Given the description of an element on the screen output the (x, y) to click on. 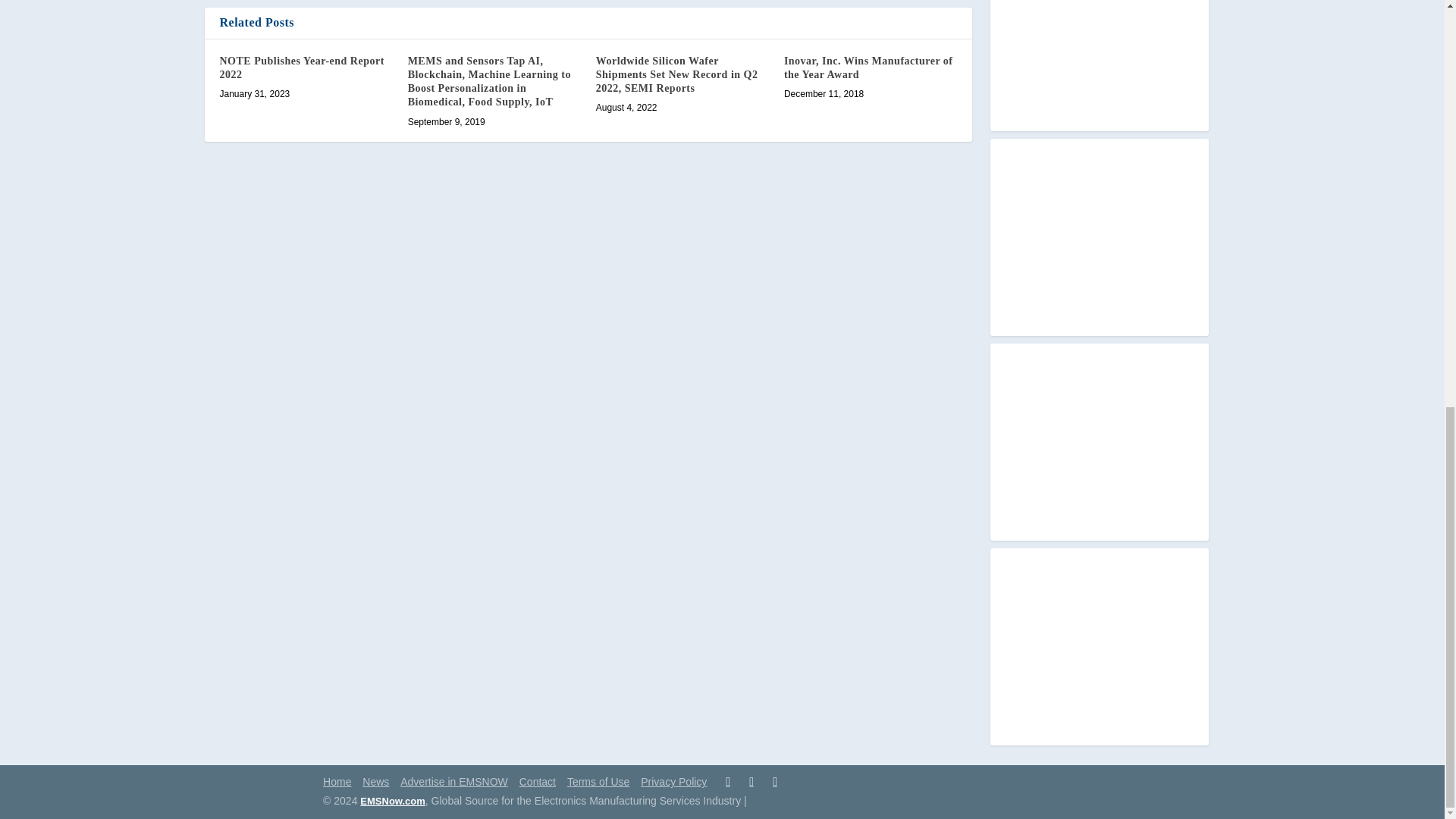
EMSNow.com (392, 800)
Inovar, Inc. Wins Manufacturer of the Year Award (868, 67)
NOTE Publishes Year-end Report 2022 (301, 67)
